Given the description of an element on the screen output the (x, y) to click on. 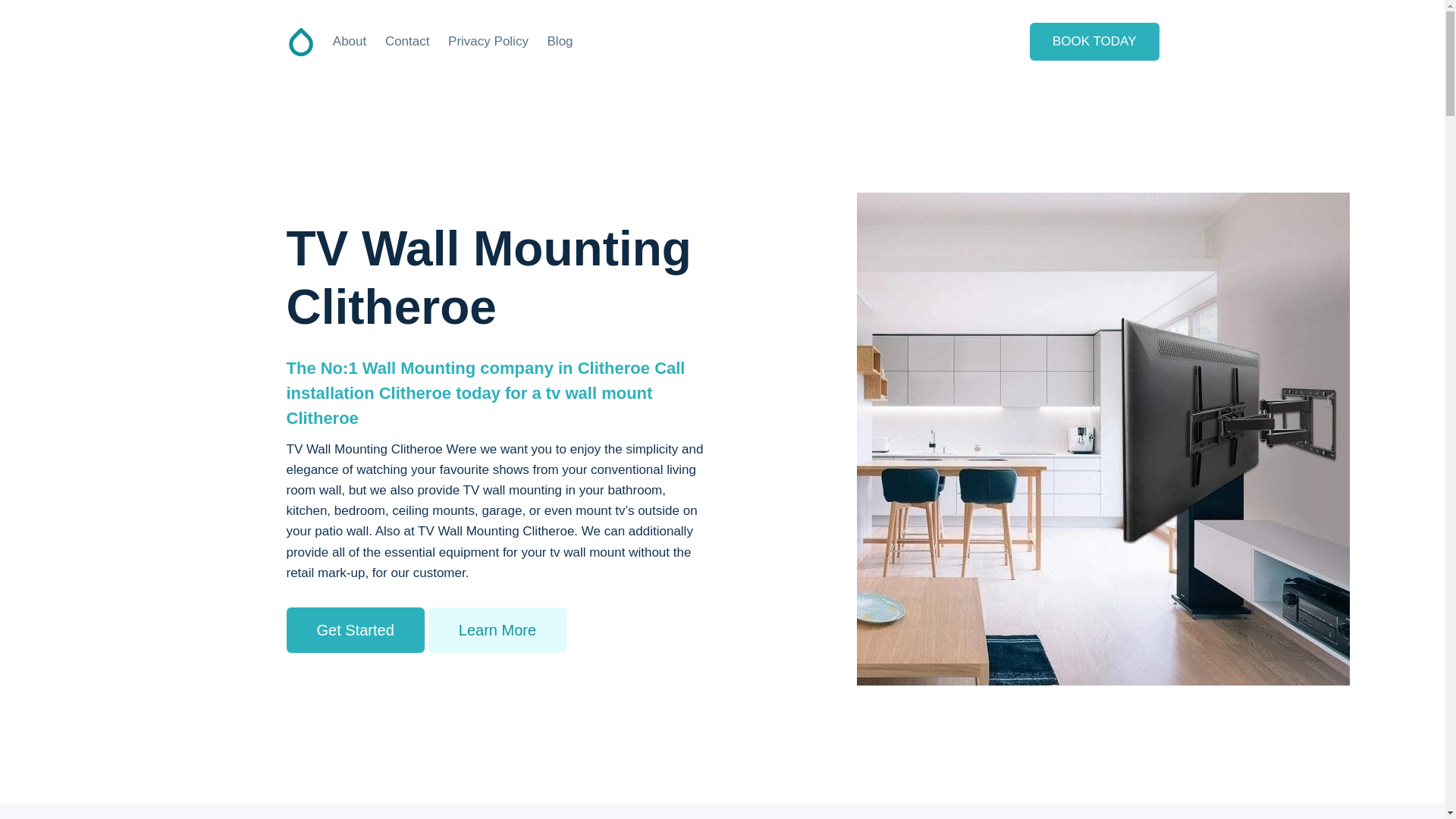
Get Started (355, 629)
Blog (559, 41)
Privacy Policy (488, 41)
Contact (407, 41)
Learn More (497, 629)
About (349, 41)
BOOK TODAY (1093, 40)
